Given the description of an element on the screen output the (x, y) to click on. 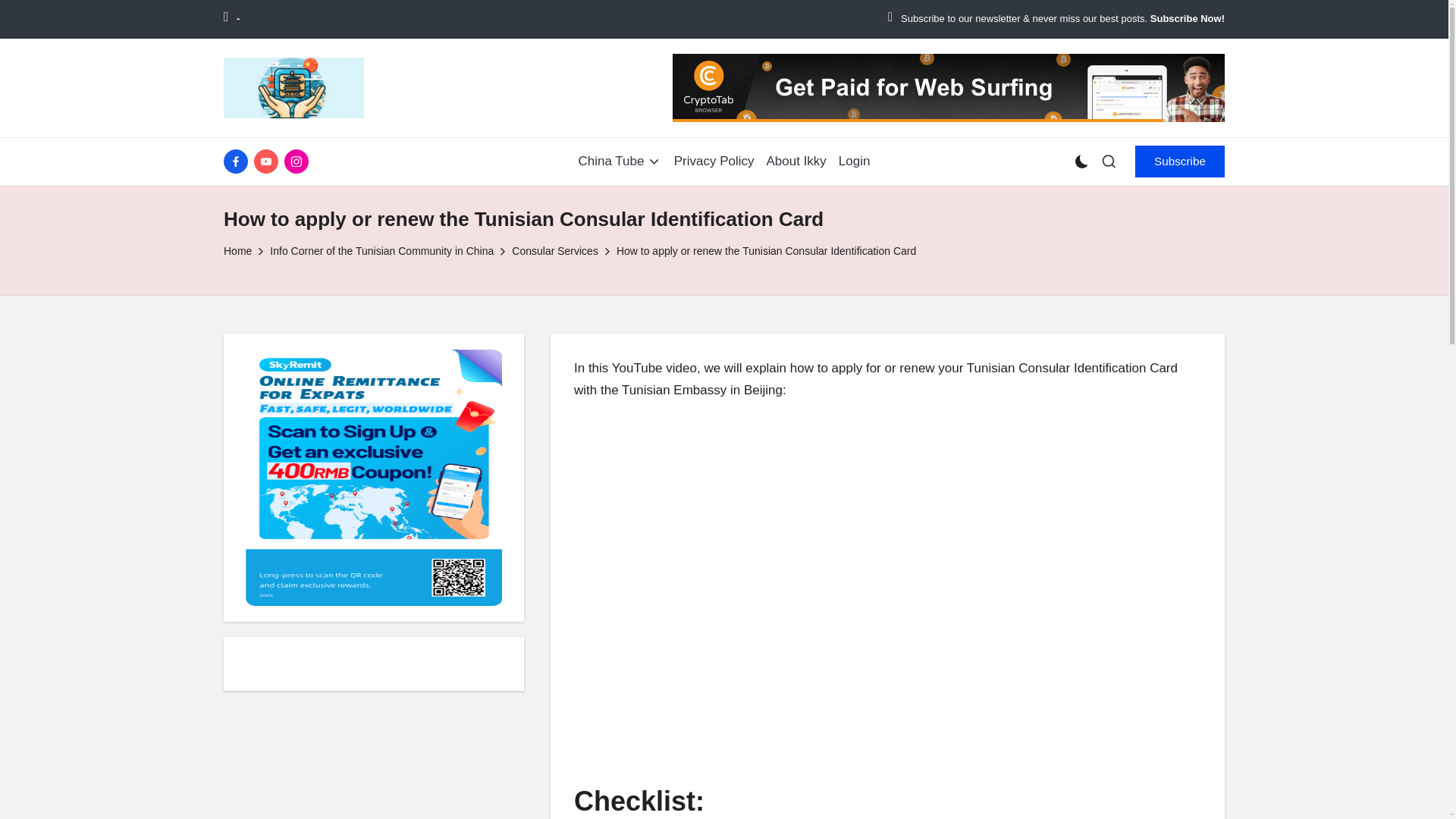
China Tube (620, 160)
FaceBook (238, 161)
Youtube (268, 161)
Instagram (298, 161)
Subscribe Now! (1187, 18)
